Given the description of an element on the screen output the (x, y) to click on. 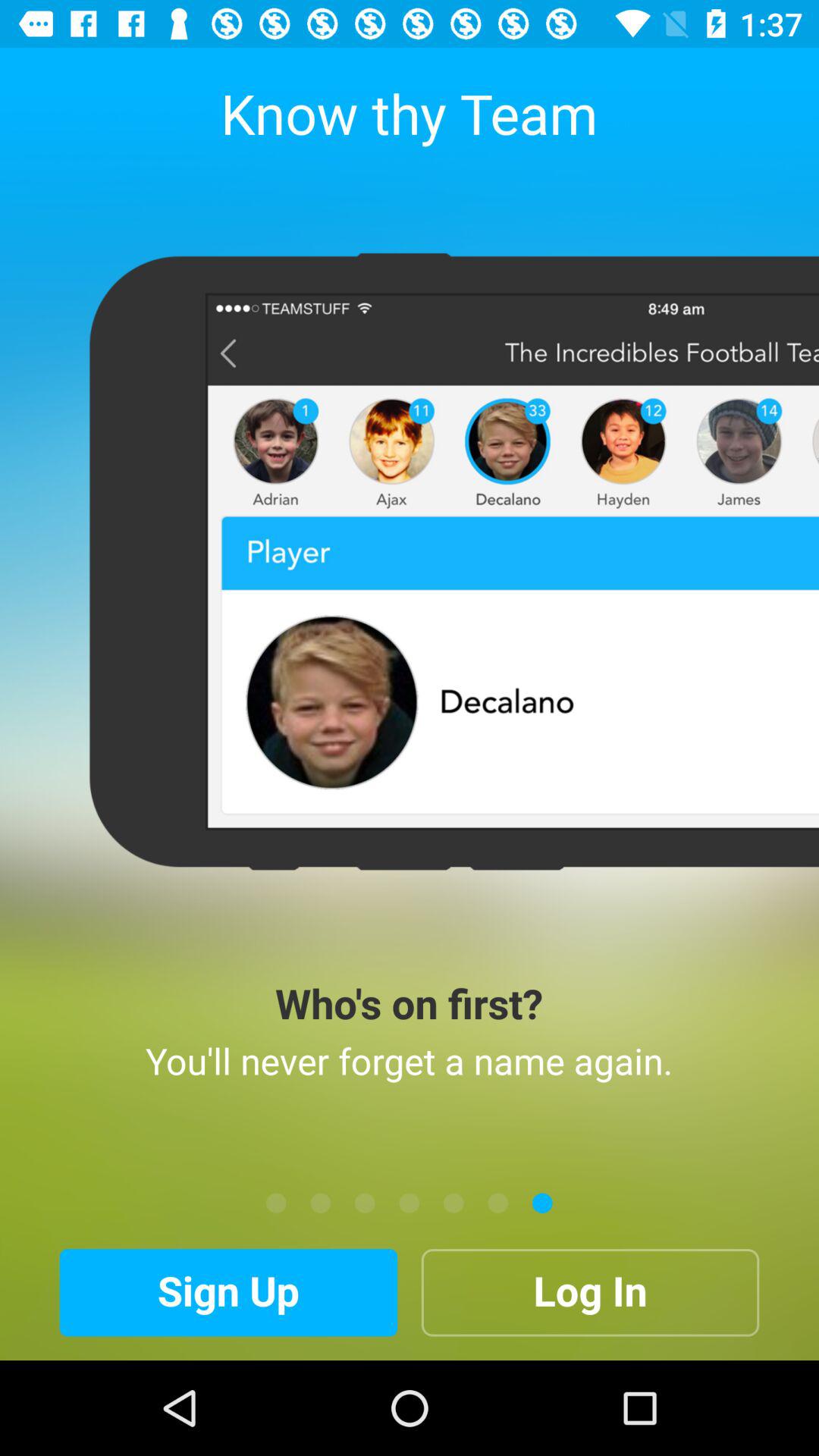
turn off the icon below you ll never icon (364, 1203)
